Given the description of an element on the screen output the (x, y) to click on. 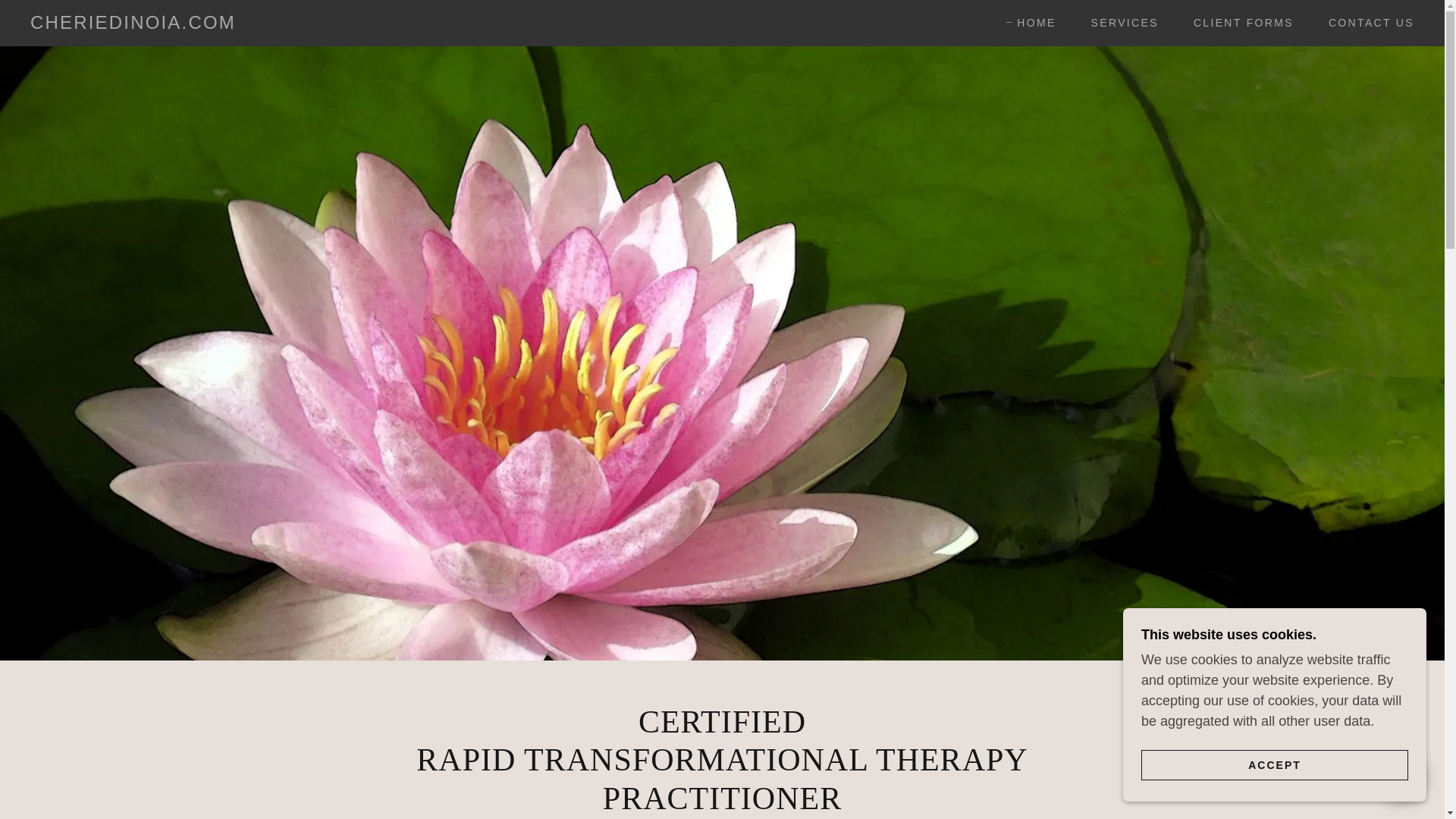
SERVICES (1119, 22)
CHERIEDINOIA.COM (132, 23)
CONTACT US (1365, 22)
CherieDiNoia.com (132, 23)
CLIENT FORMS (1237, 22)
HOME (1030, 22)
ACCEPT (1274, 764)
